Given the description of an element on the screen output the (x, y) to click on. 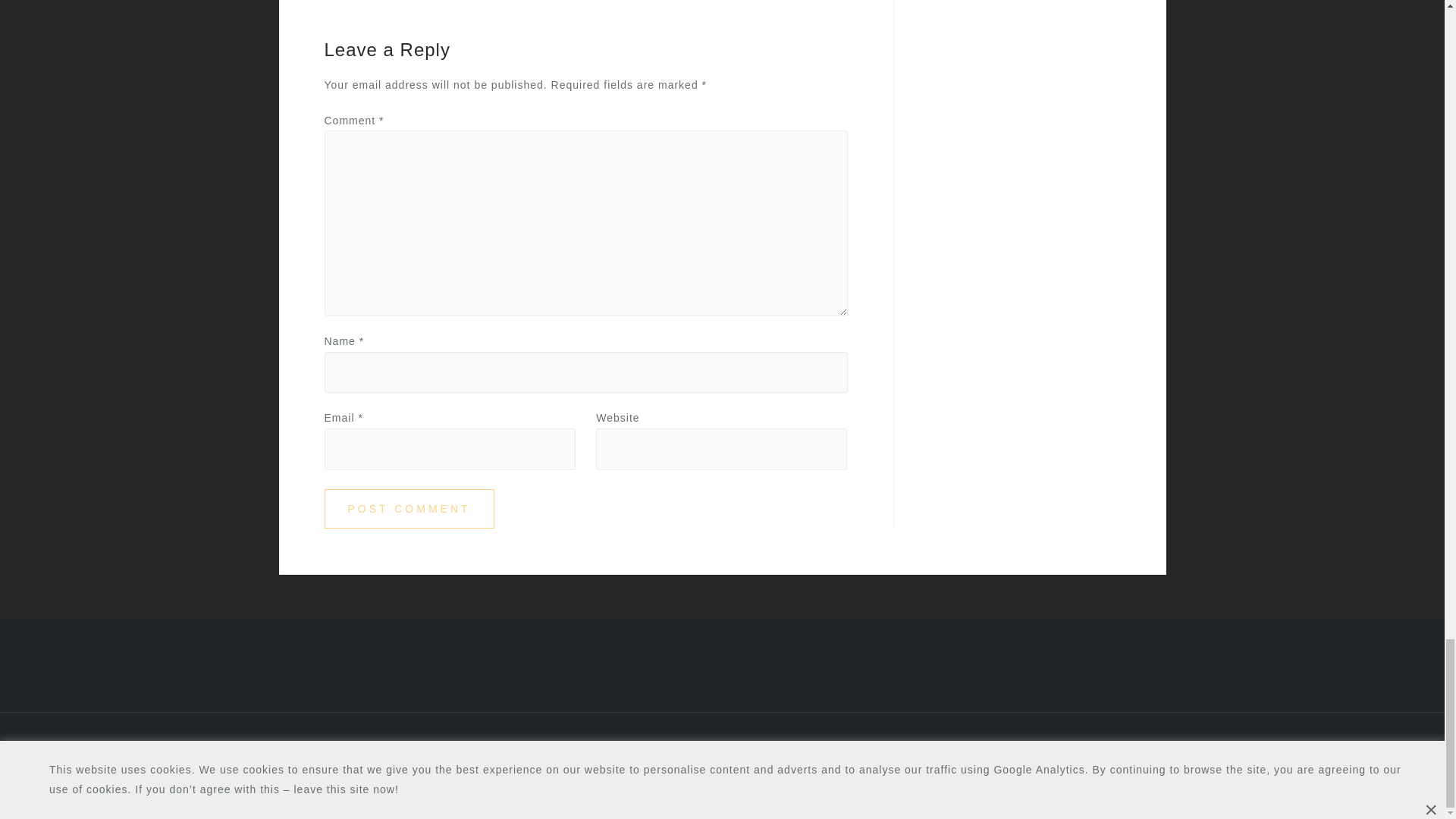
Post Comment (409, 508)
